Given the description of an element on the screen output the (x, y) to click on. 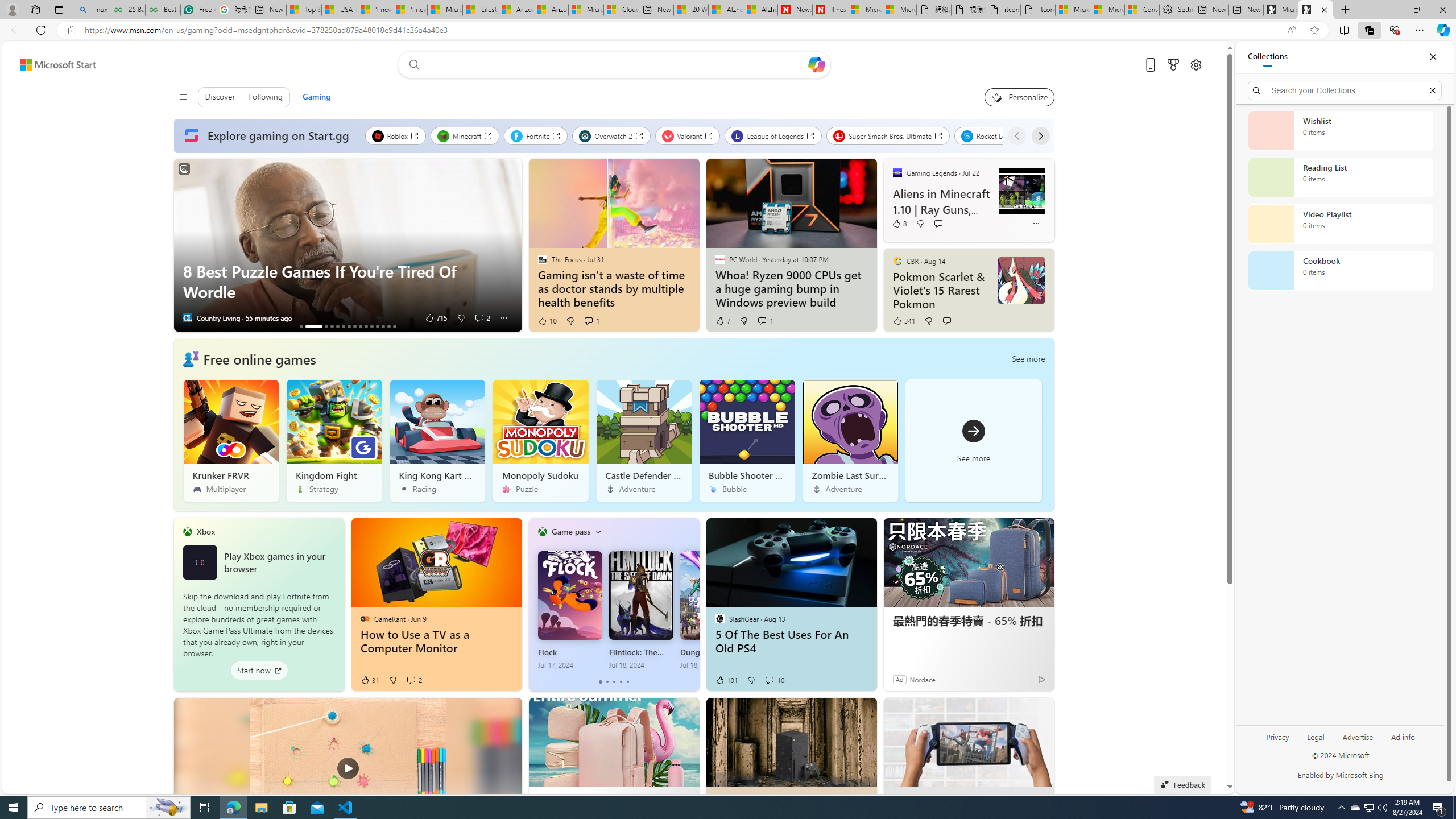
tab-4 (627, 682)
7 Like (722, 320)
Monopoly Sudoku (540, 440)
Exit search (1432, 90)
Game pass (570, 531)
USA TODAY - MSN (339, 9)
